Given the description of an element on the screen output the (x, y) to click on. 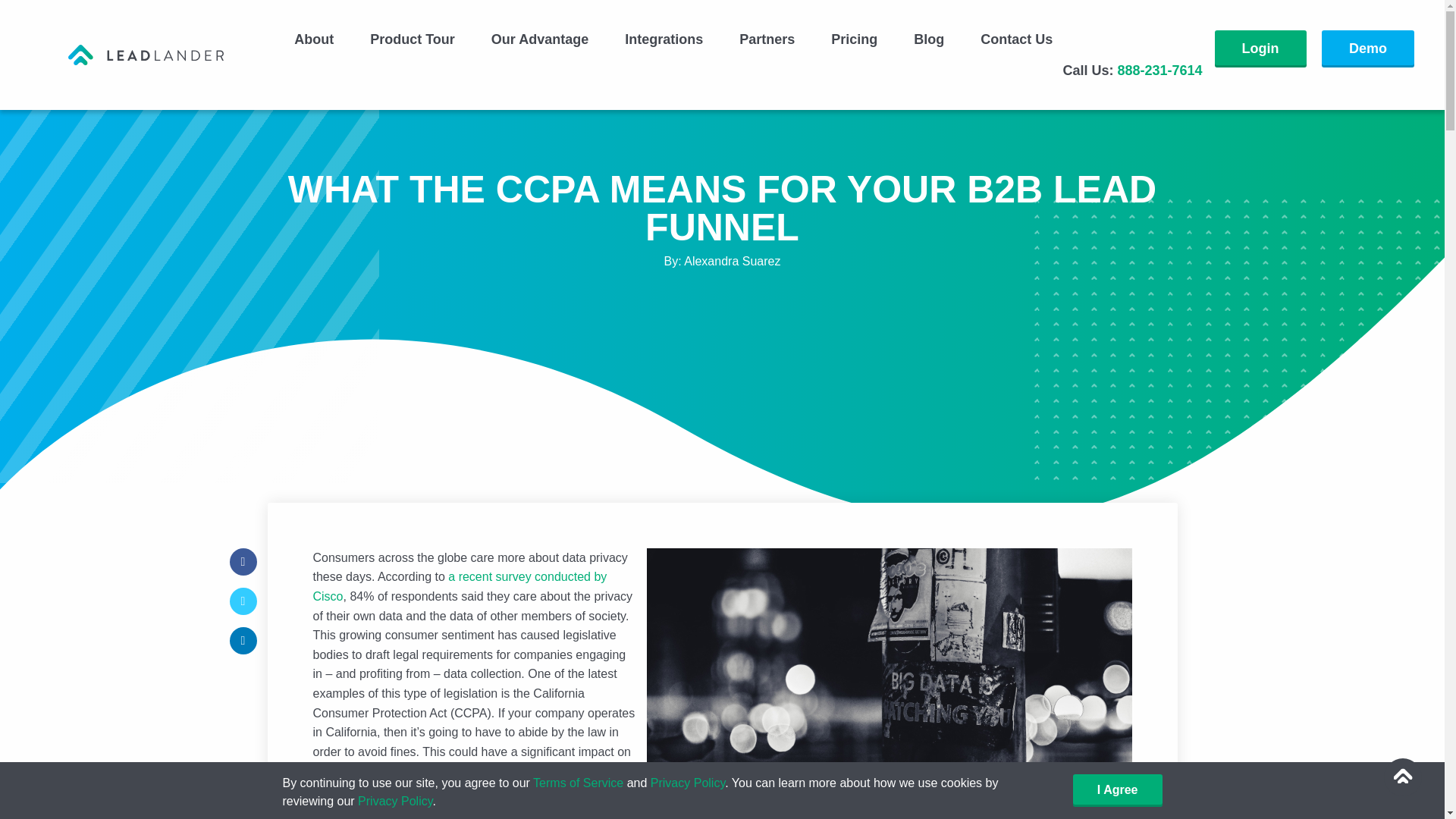
Share to Twitter (242, 601)
Login (1260, 48)
Scroll to the top (1403, 777)
Share to LinkedIn (242, 640)
Partners (766, 39)
Demo (1367, 48)
Blog (928, 39)
About (314, 39)
Share to Facebook (242, 561)
LeadLander (146, 53)
Call Us: 888-231-7614 (1128, 69)
Product Tour (412, 39)
Our Advantage (540, 39)
Integrations (663, 39)
